Given the description of an element on the screen output the (x, y) to click on. 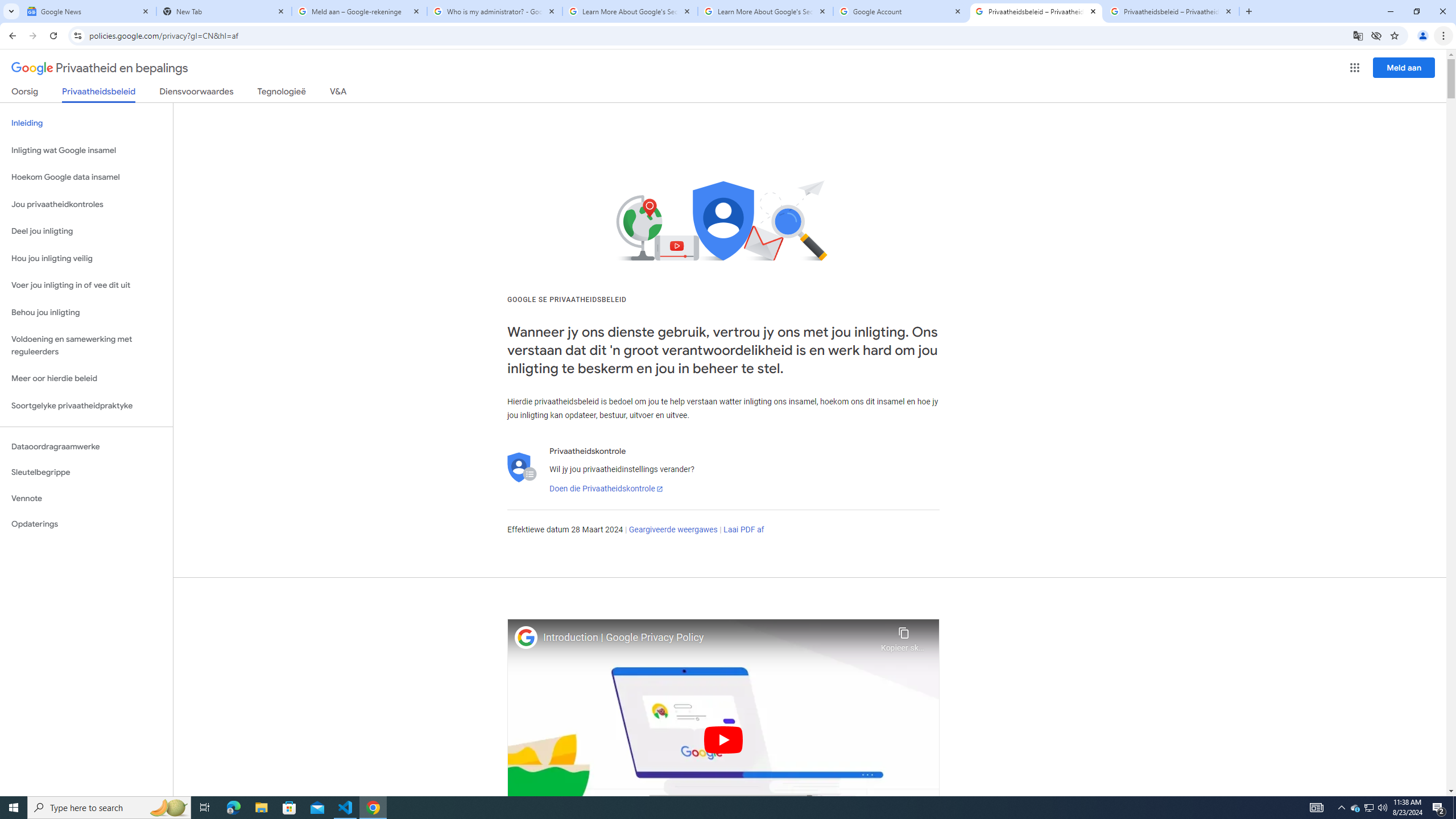
Inligting wat Google insamel (86, 150)
Who is my administrator? - Google Account Help (494, 11)
Behou jou inligting (86, 312)
Speel (723, 739)
V&A (337, 93)
Kopieer skakel (903, 636)
Diensvoorwaardes (196, 93)
